Given the description of an element on the screen output the (x, y) to click on. 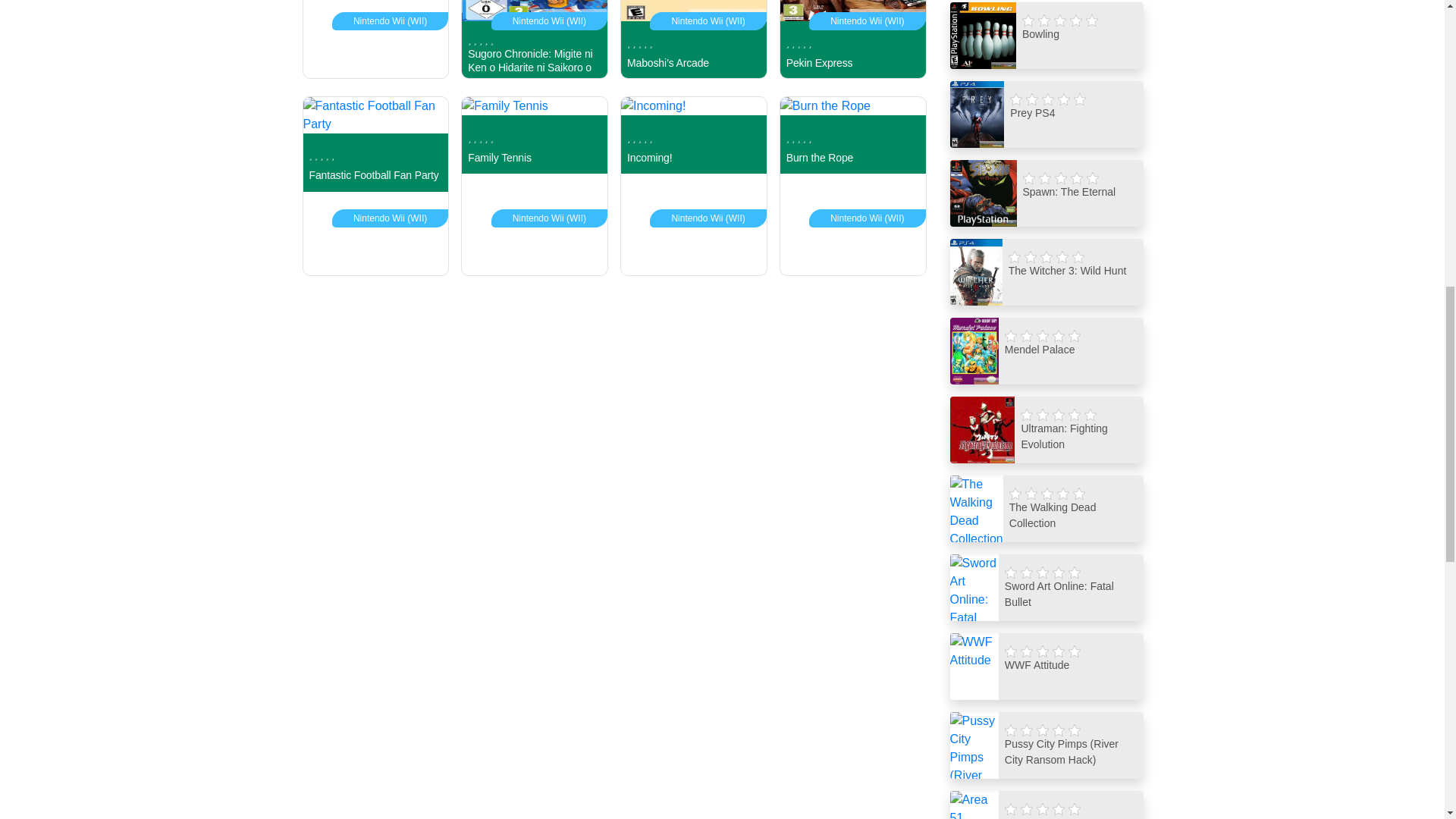
Pekin Express (852, 39)
Bowling (1045, 35)
Sugoro Chronicle: Migite ni Ken o Hidarite ni Saikoro o (534, 39)
HB Arcade Cards (374, 39)
